Given the description of an element on the screen output the (x, y) to click on. 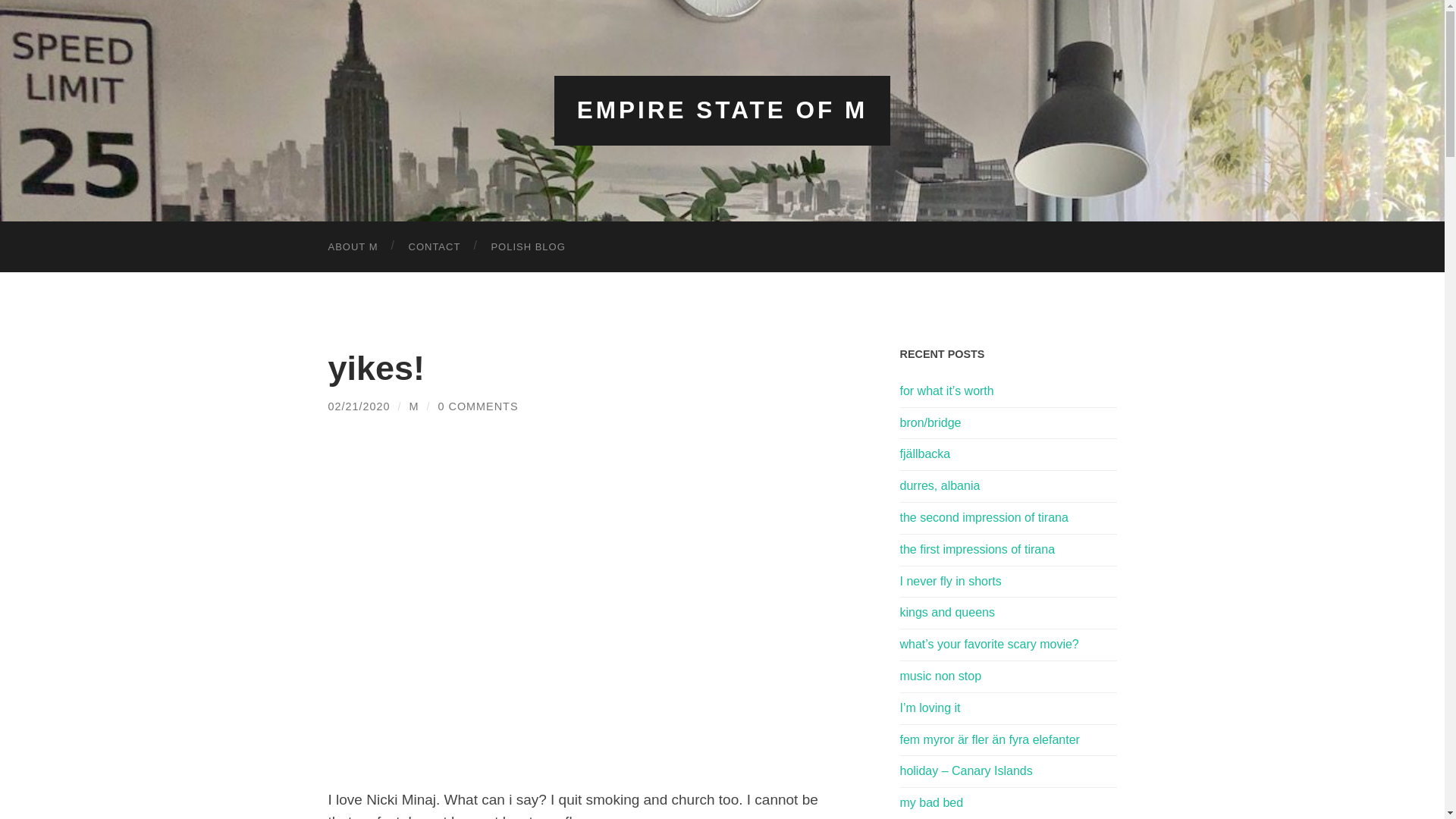
ABOUT M (353, 246)
0 COMMENTS (478, 406)
EMPIRE STATE OF M (721, 109)
CONTACT (434, 246)
POLISH BLOG (527, 246)
